Given the description of an element on the screen output the (x, y) to click on. 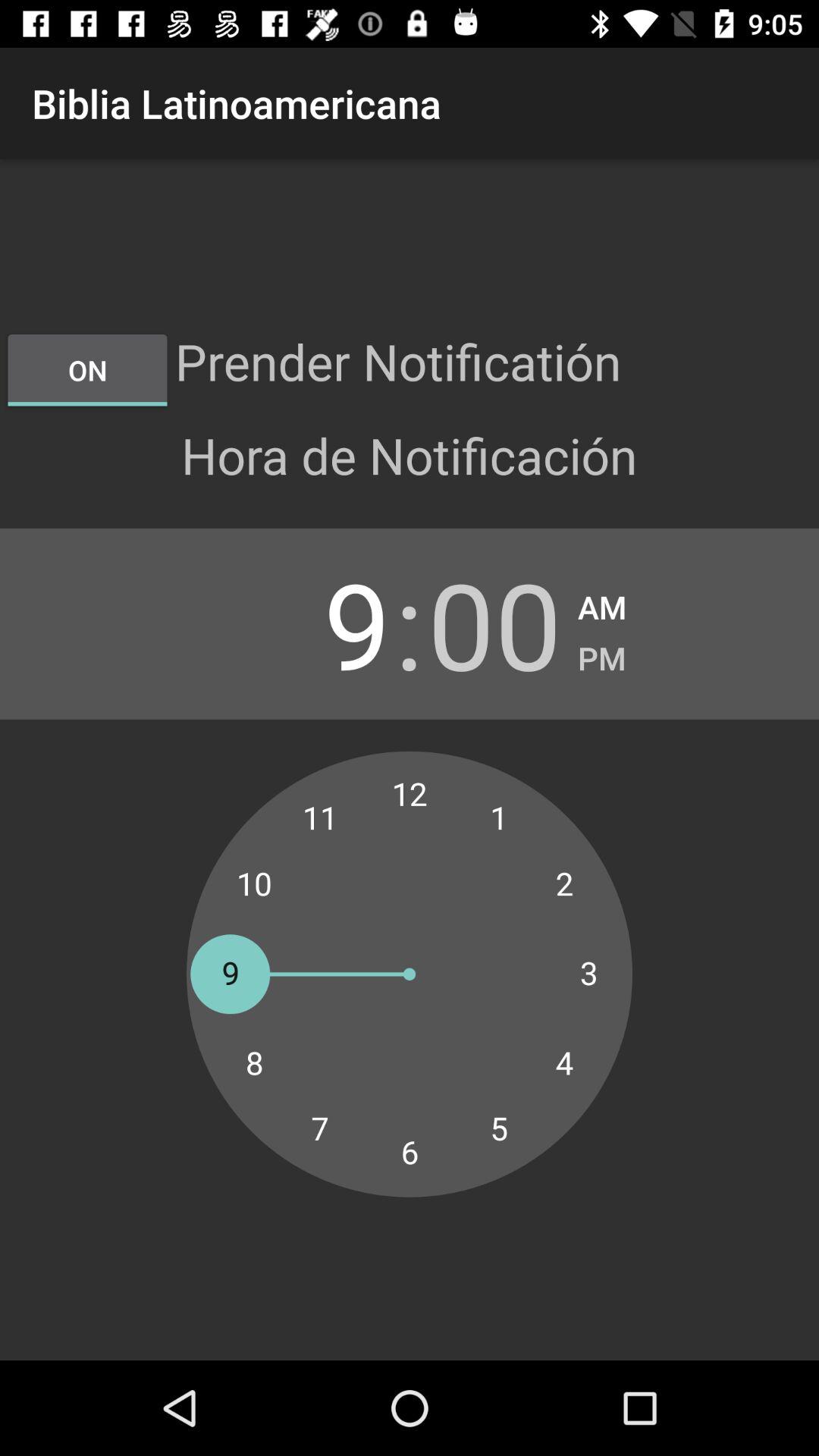
choose the am checkbox (601, 602)
